Given the description of an element on the screen output the (x, y) to click on. 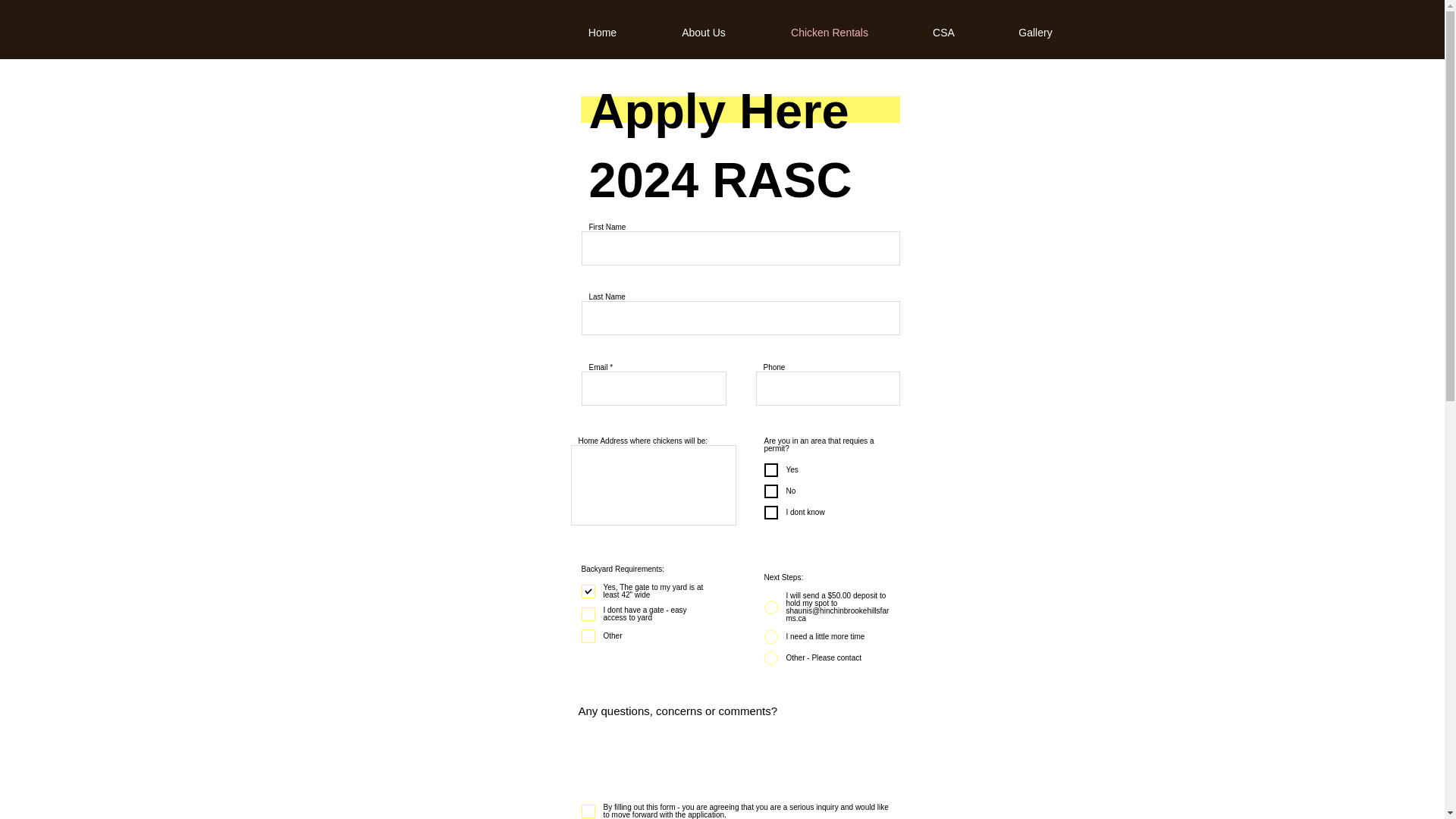
CSA (944, 32)
Gallery (1035, 32)
About Us (703, 32)
Home (602, 32)
Chicken Rentals (829, 32)
